Given the description of an element on the screen output the (x, y) to click on. 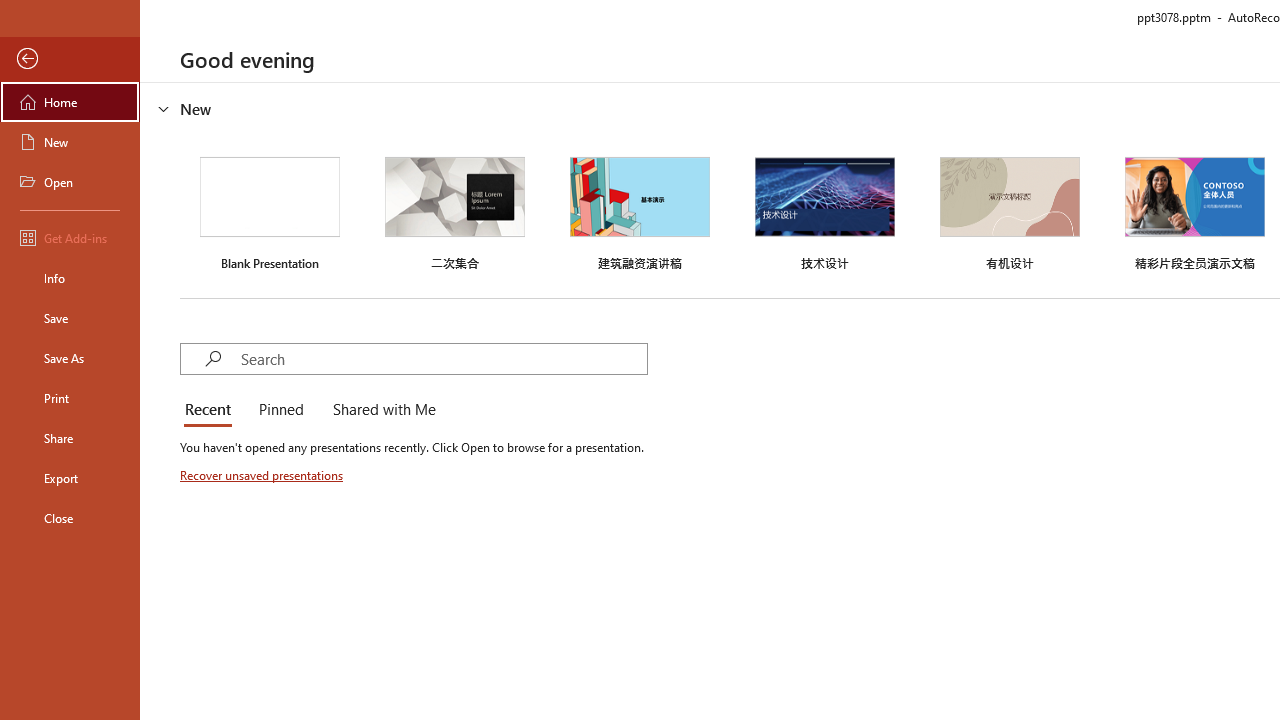
Hide or show region (164, 108)
Pinned (280, 410)
Back (69, 59)
Export (69, 477)
